Given the description of an element on the screen output the (x, y) to click on. 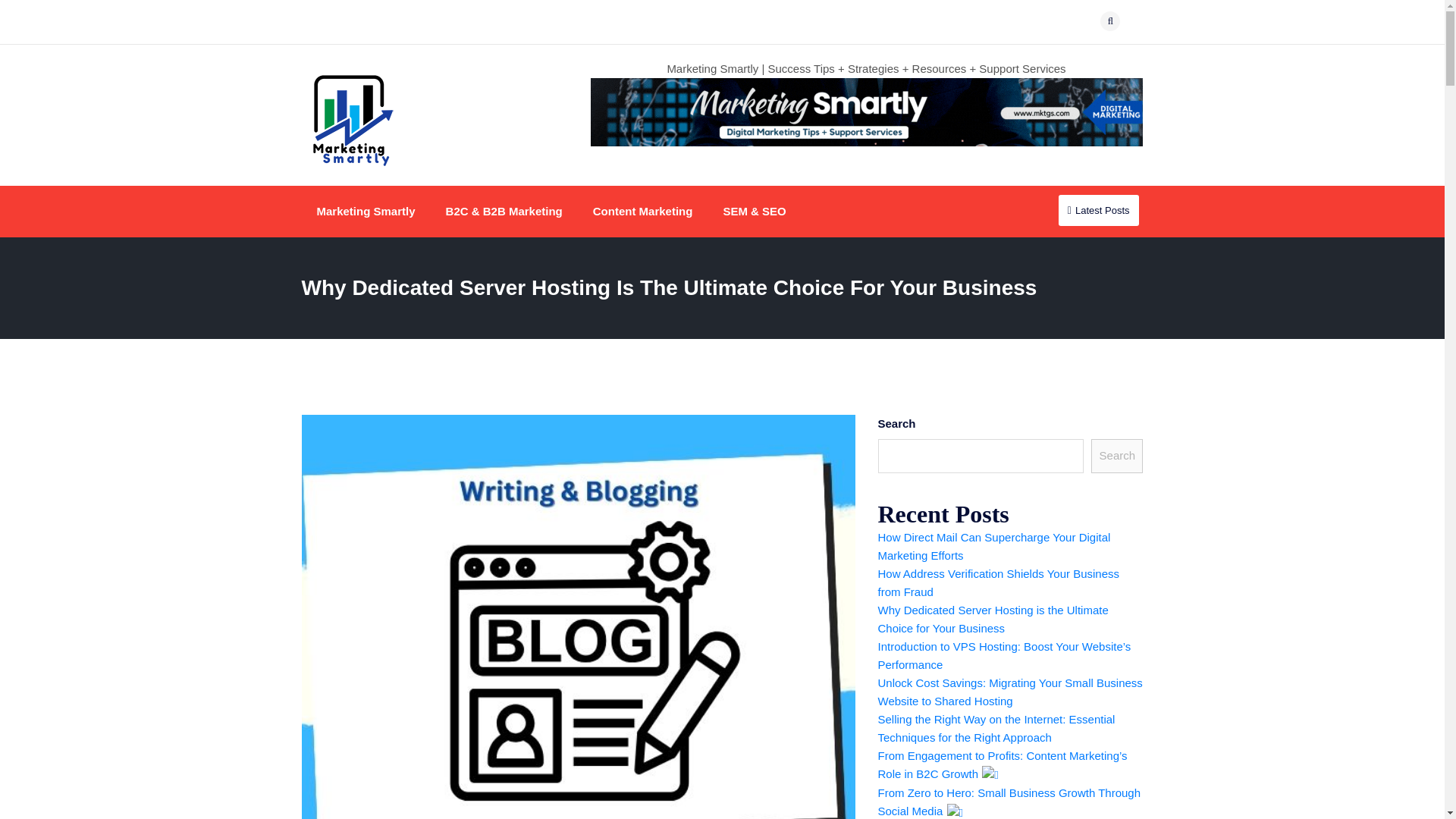
Marketing Smartly (365, 211)
Marketing Smartly (365, 211)
Content Marketing (642, 211)
Latest Posts (1098, 210)
Content Marketing (642, 211)
MARKETING SMARTLY (424, 191)
